Given the description of an element on the screen output the (x, y) to click on. 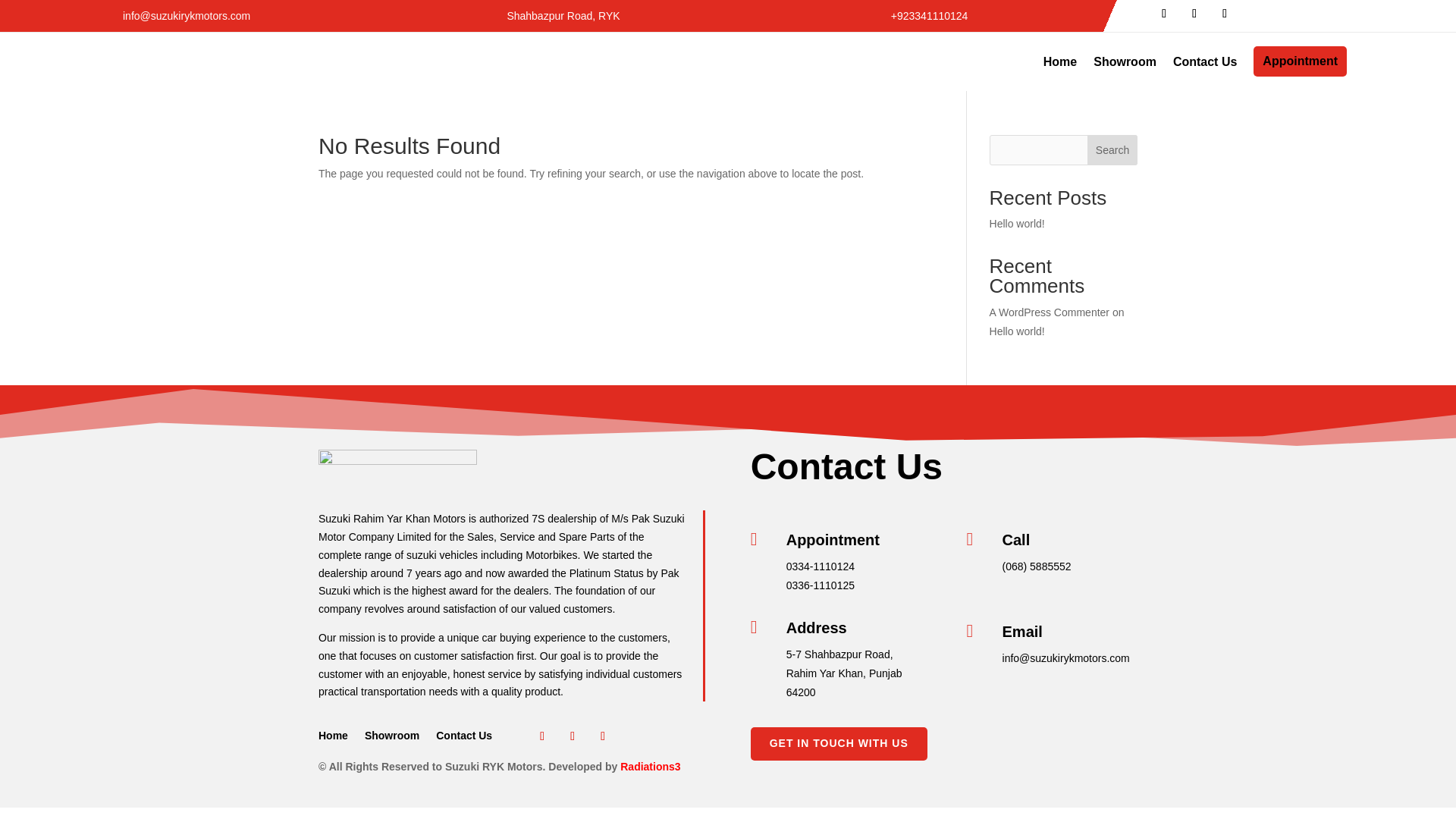
Hello world! (1017, 331)
Follow on Instagram (1224, 13)
Follow on Instagram (602, 735)
Hello world! (1017, 223)
Home (332, 738)
Search (1112, 150)
logo-removebg-preview (397, 468)
Appointment (1299, 60)
Follow on Facebook (1163, 13)
A WordPress Commenter (1049, 312)
